Given the description of an element on the screen output the (x, y) to click on. 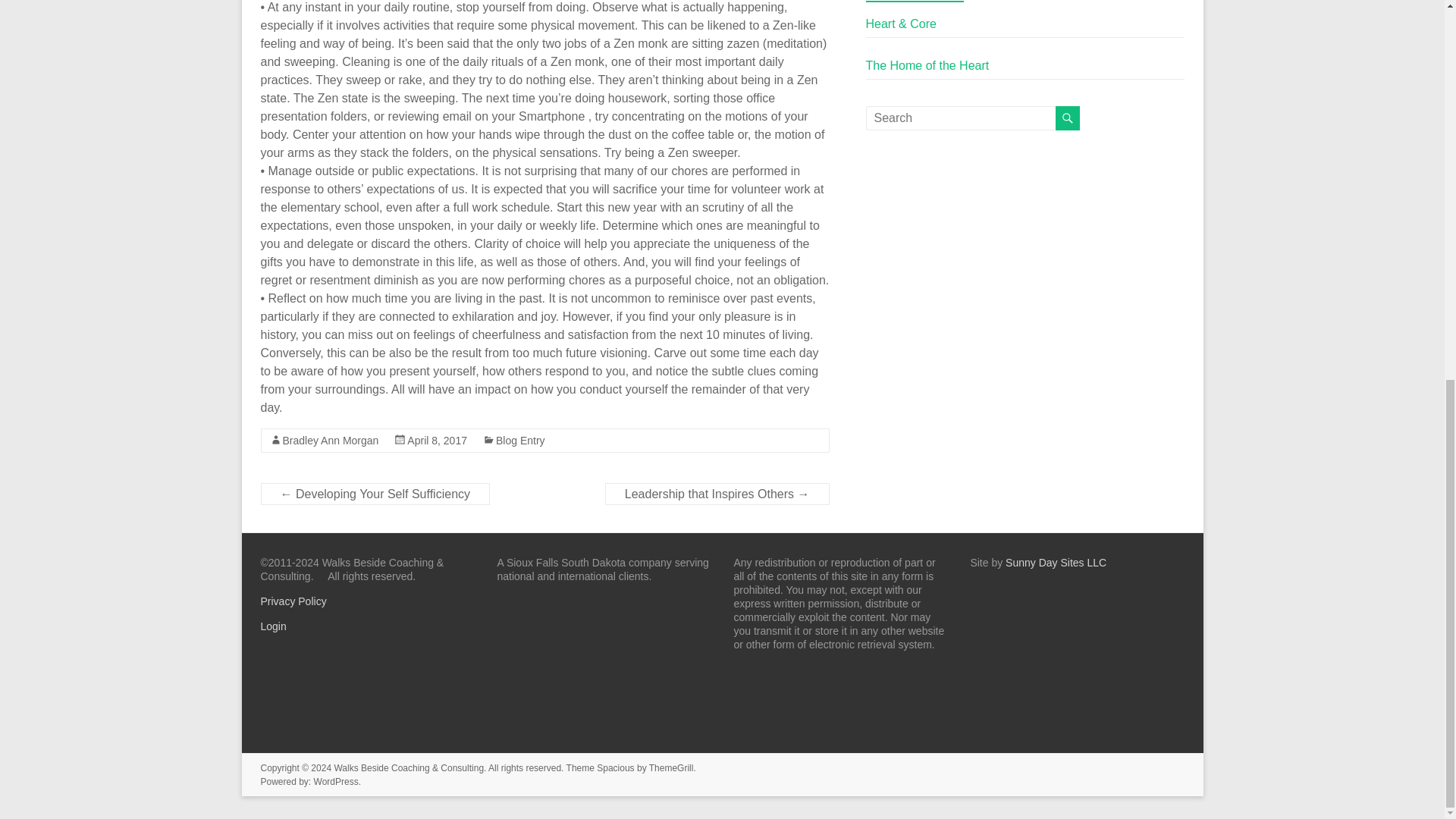
WordPress (336, 781)
Spacious (614, 767)
11:09 am (437, 440)
Blog Entry (520, 440)
April 8, 2017 (437, 440)
Ashburn website designer (1056, 562)
Bradley Ann Morgan (330, 440)
